Given the description of an element on the screen output the (x, y) to click on. 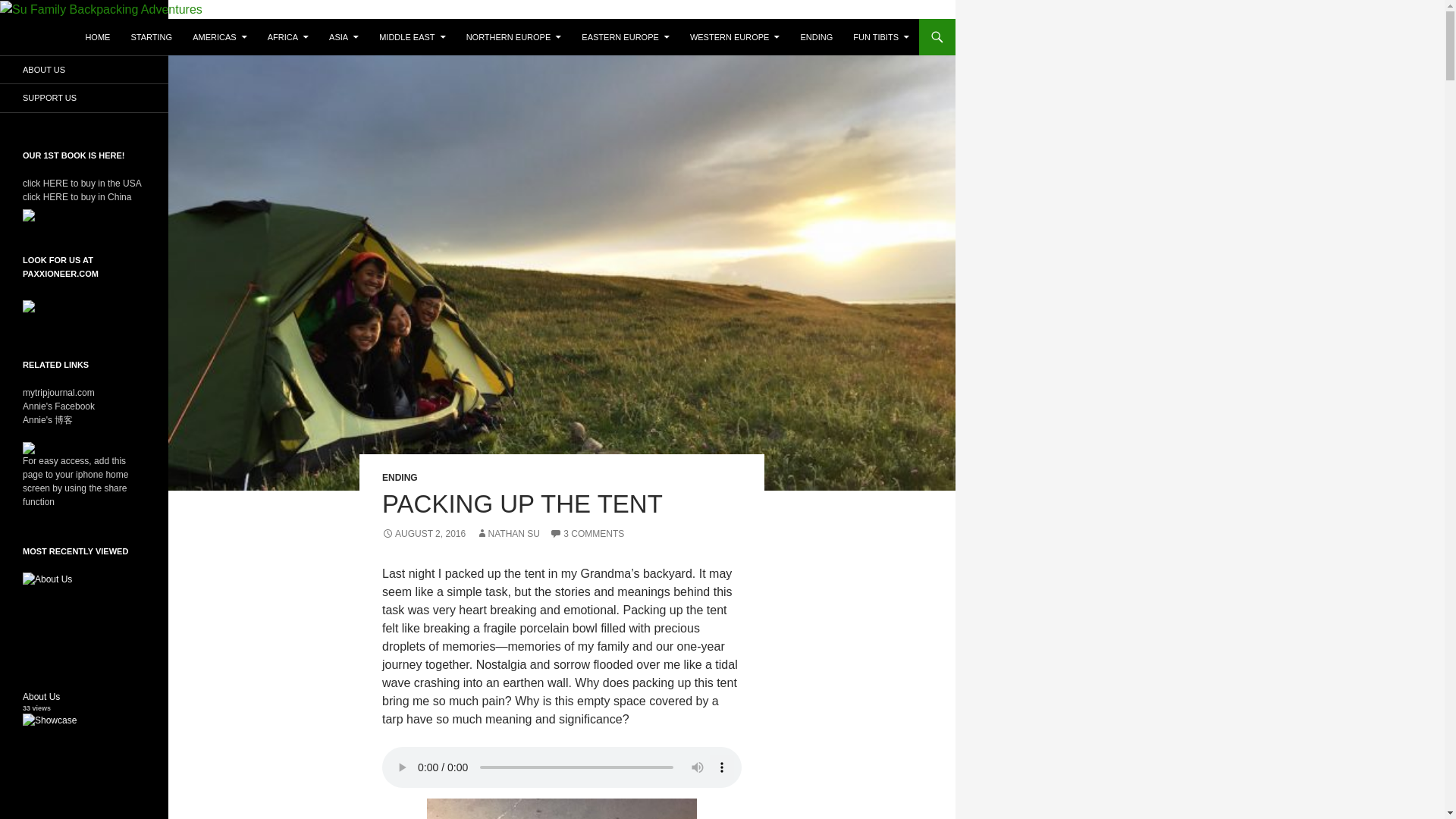
ASIA (344, 36)
Su Family Backpacking Adventures (138, 36)
STARTING (150, 36)
HOME (97, 36)
NORTHERN EUROPE (513, 36)
EASTERN EUROPE (625, 36)
AMERICAS (219, 36)
AFRICA (288, 36)
MIDDLE EAST (411, 36)
